Given the description of an element on the screen output the (x, y) to click on. 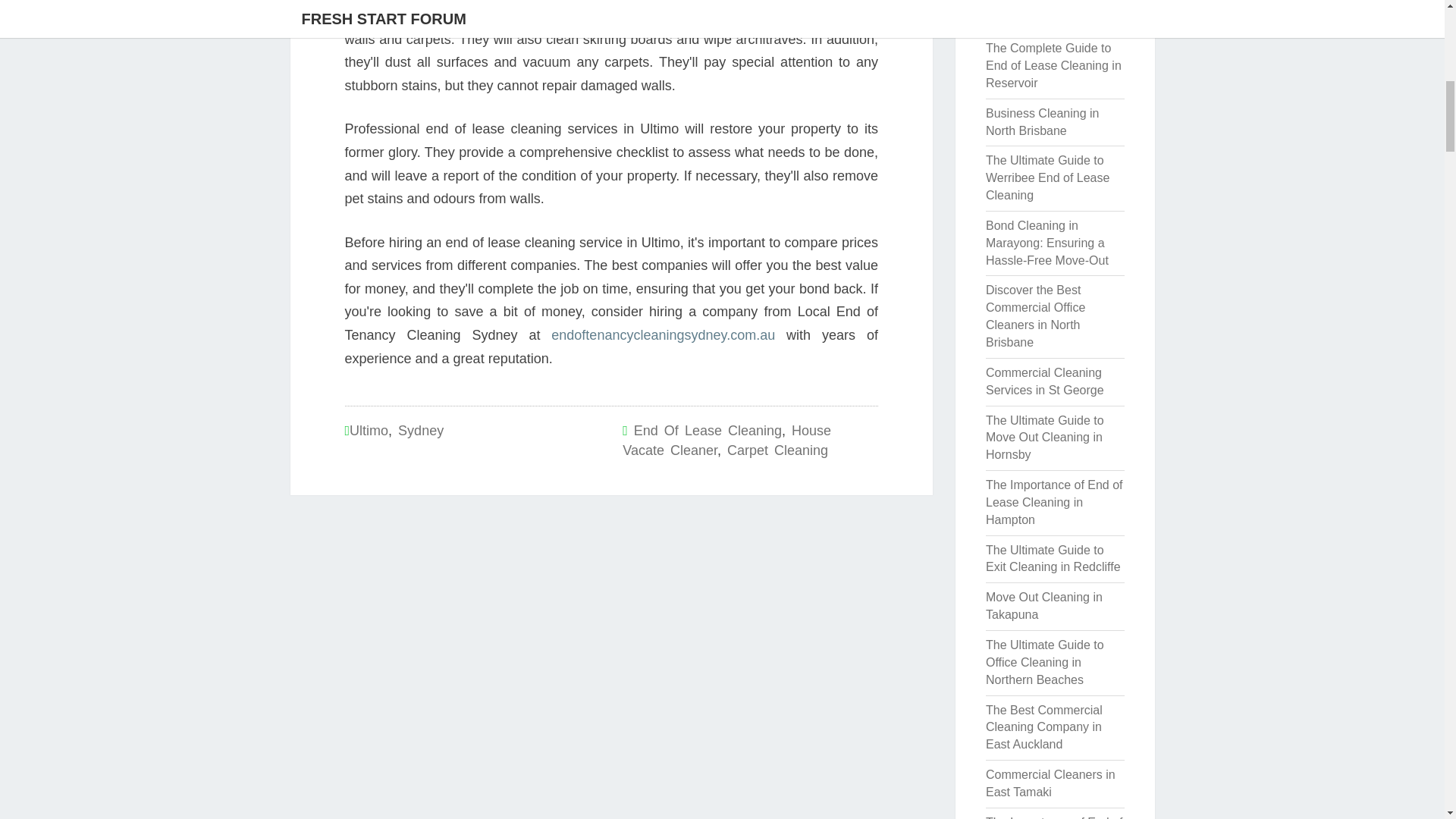
Move Out Cleaning in Takapuna (1043, 605)
office cleaning Alexandria (1053, 17)
endoftenancycleaningsydney.com.au (662, 335)
The Complete Guide to End of Lease Cleaning in Reservoir (1053, 65)
Commercial Cleaners in East Tamaki (1050, 783)
The Importance of End of Lease Cleaning in Hampton (1053, 502)
Carpet Cleaning (777, 450)
Commercial Cleaning Services in St George (1044, 381)
The Ultimate Guide to Werribee End of Lease Cleaning (1047, 177)
The Best Commercial Cleaning Company in East Auckland (1043, 727)
